Given the description of an element on the screen output the (x, y) to click on. 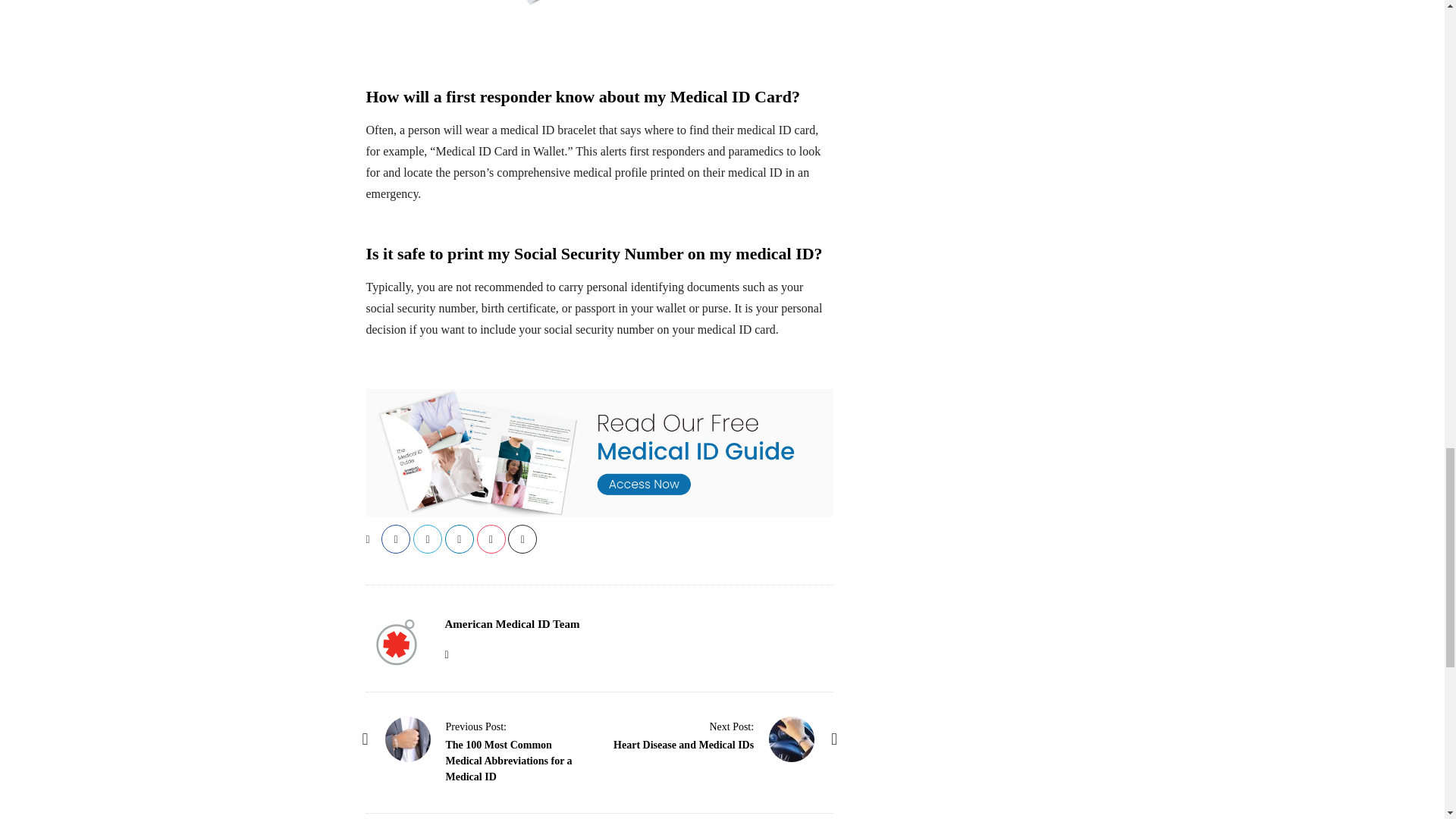
American Medical ID Team (511, 623)
The 100 Most Common Medical Abbreviations for a Medical ID (407, 739)
The 100 Most Common Medical Abbreviations for a Medical ID (475, 726)
Previous Post: (475, 726)
Heart Disease and Medical IDs (790, 739)
Heart Disease and Medical IDs (731, 726)
The 100 Most Common Medical Abbreviations for a Medical ID (508, 760)
